Given the description of an element on the screen output the (x, y) to click on. 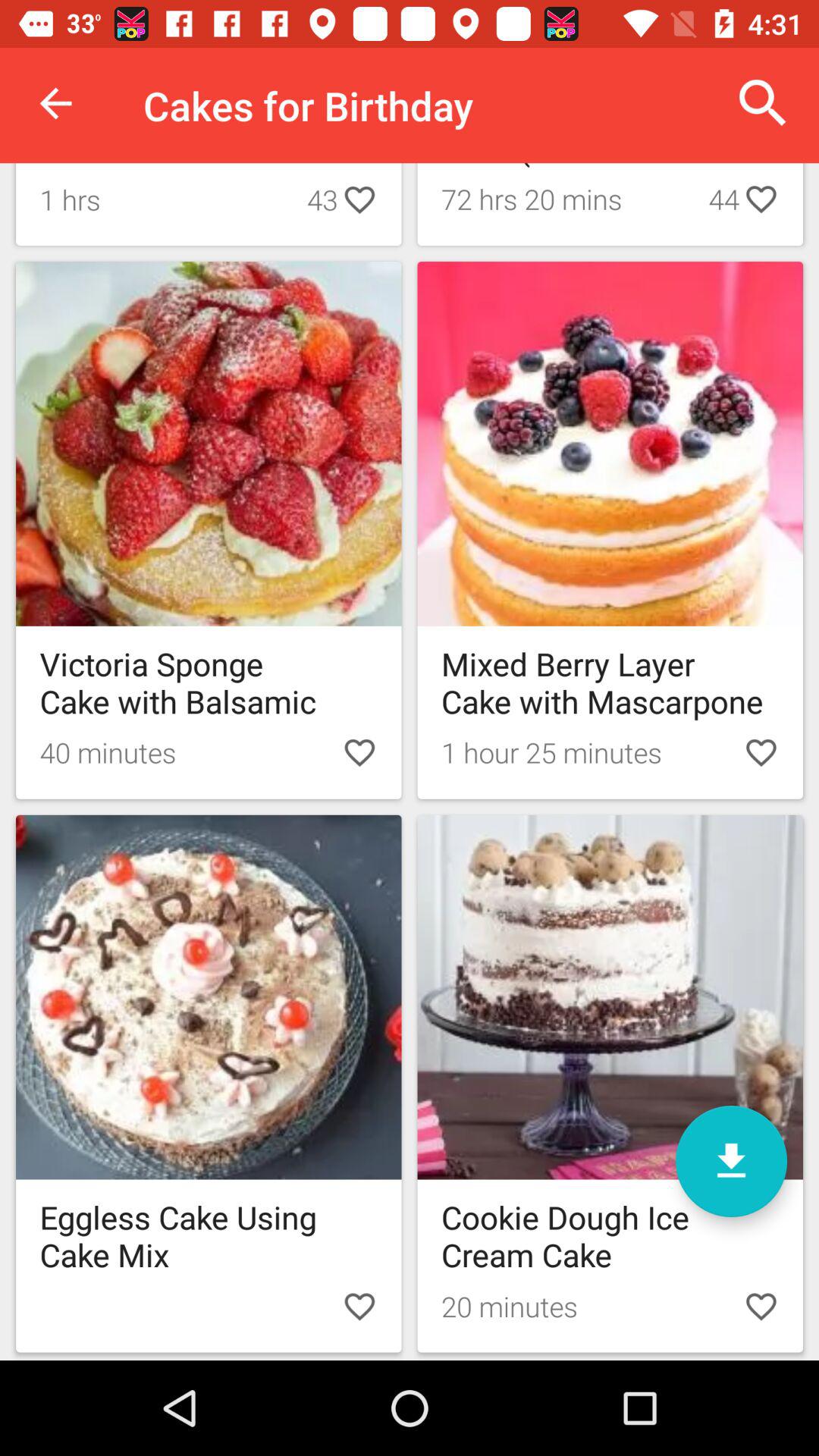
download (731, 1161)
